Given the description of an element on the screen output the (x, y) to click on. 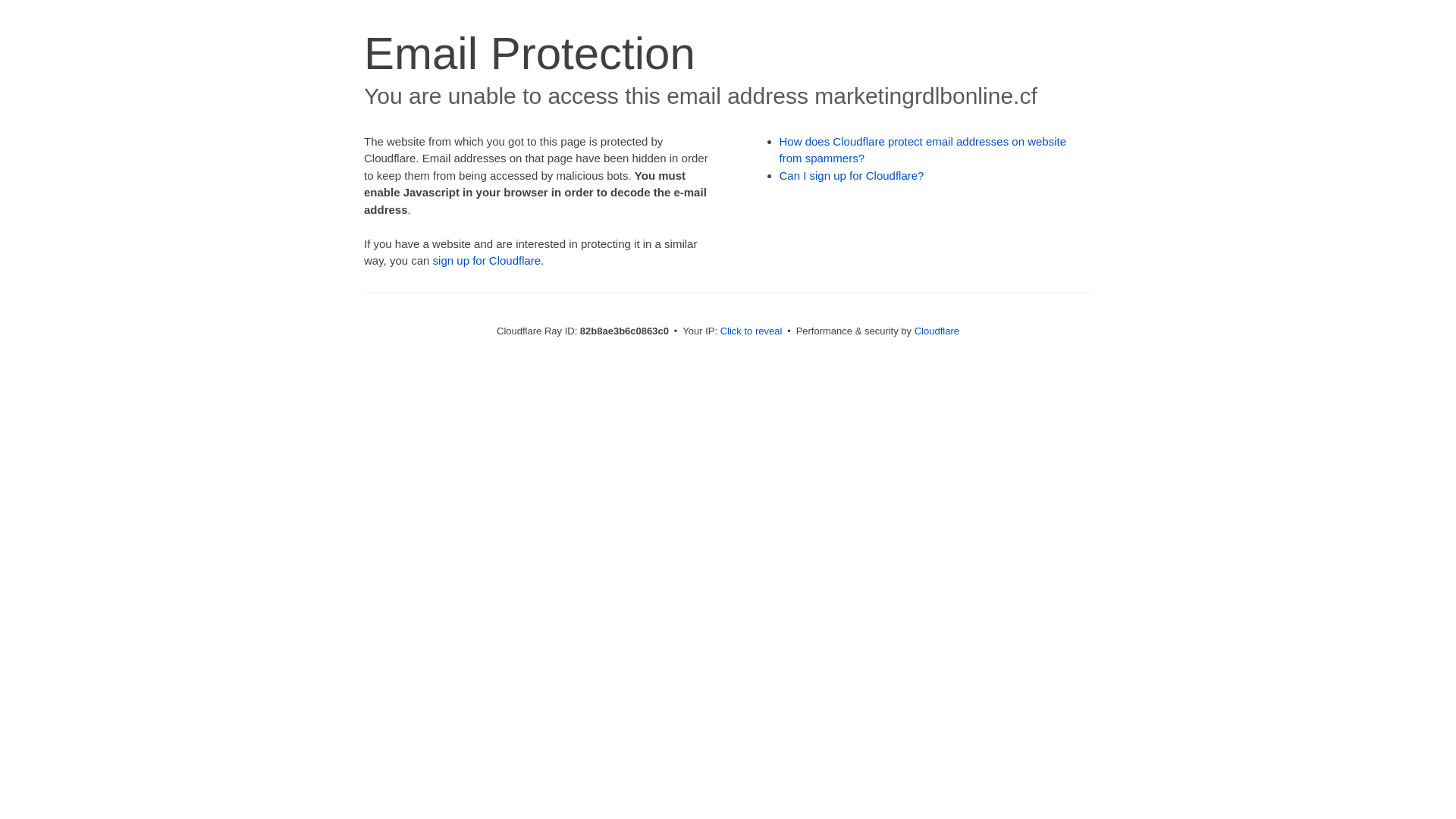
sign up for Cloudflare Element type: text (487, 260)
Cloudflare Element type: text (936, 330)
Click to reveal Element type: text (751, 330)
Can I sign up for Cloudflare? Element type: text (851, 175)
